Given the description of an element on the screen output the (x, y) to click on. 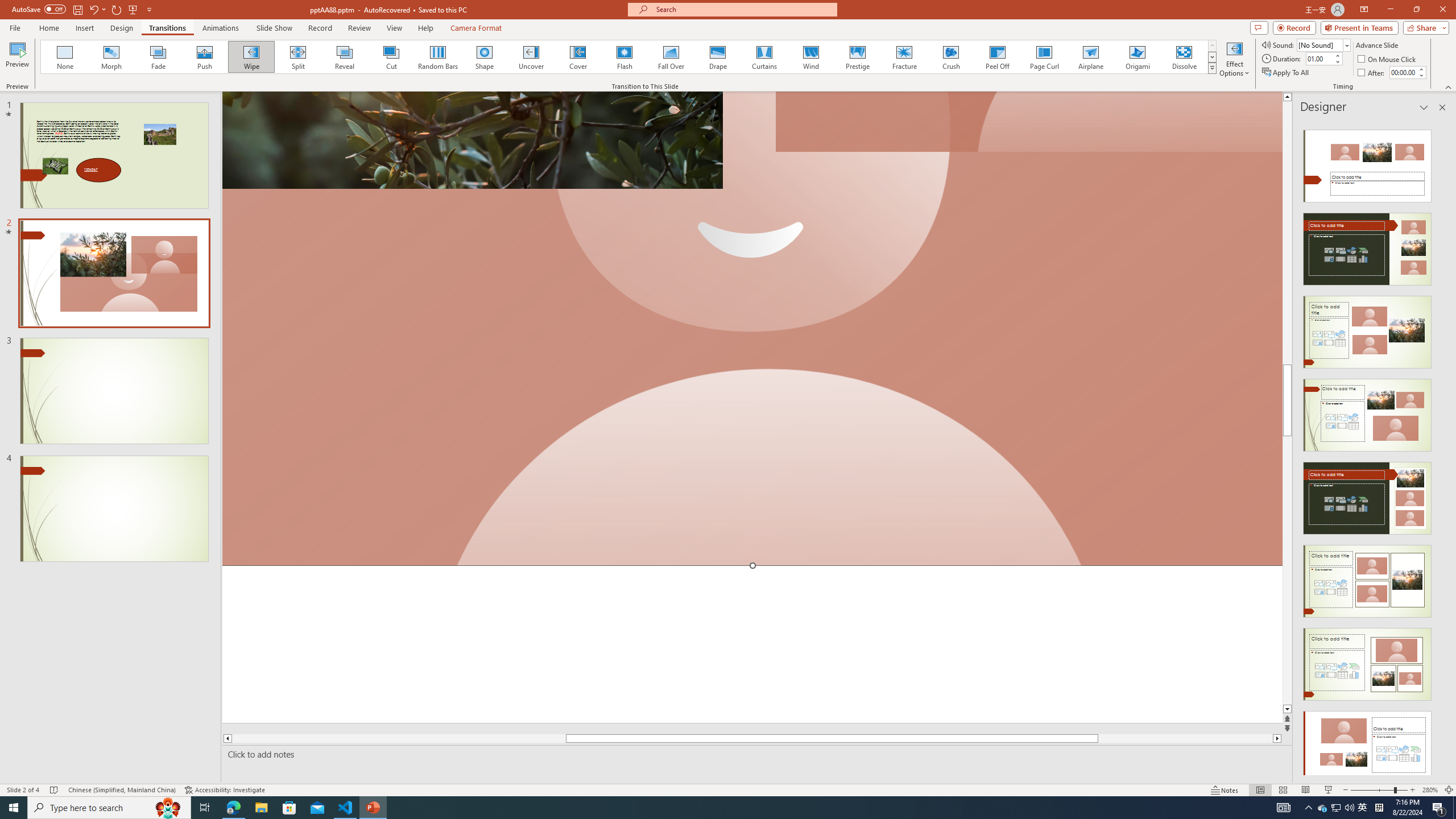
More Options (103, 9)
Duration (1319, 58)
Uncover (531, 56)
System (6, 6)
Design Idea (1366, 743)
Shape (484, 56)
Row Down (1212, 56)
Camera 13, No camera detected. (752, 328)
On Mouse Click (1387, 58)
Undo (96, 9)
From Beginning (133, 9)
Quick Access Toolbar (82, 9)
Insert (83, 28)
Line up (1287, 96)
More (1420, 69)
